Given the description of an element on the screen output the (x, y) to click on. 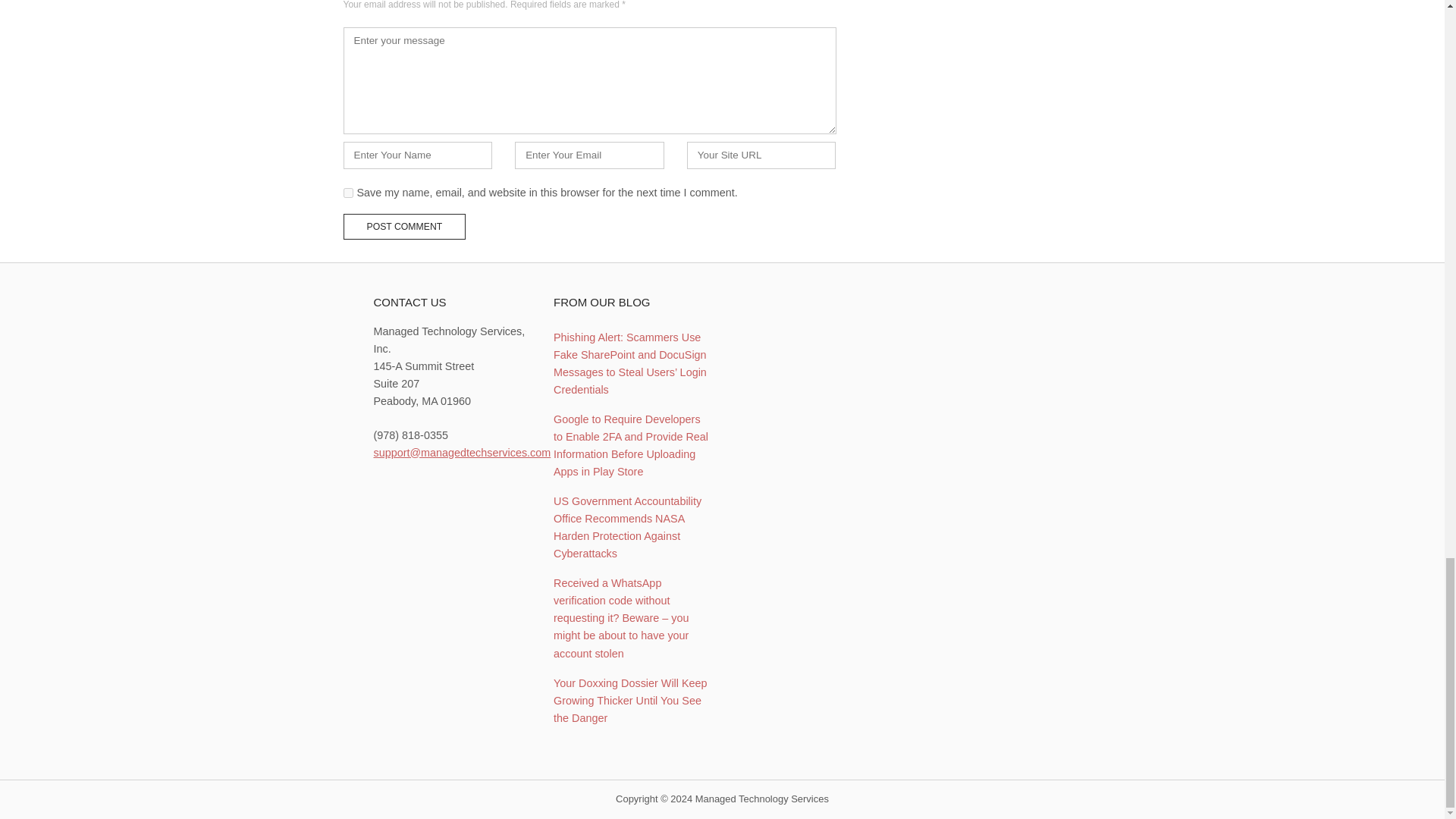
yes (347, 193)
Post Comment (403, 226)
Post Comment (403, 226)
